Given the description of an element on the screen output the (x, y) to click on. 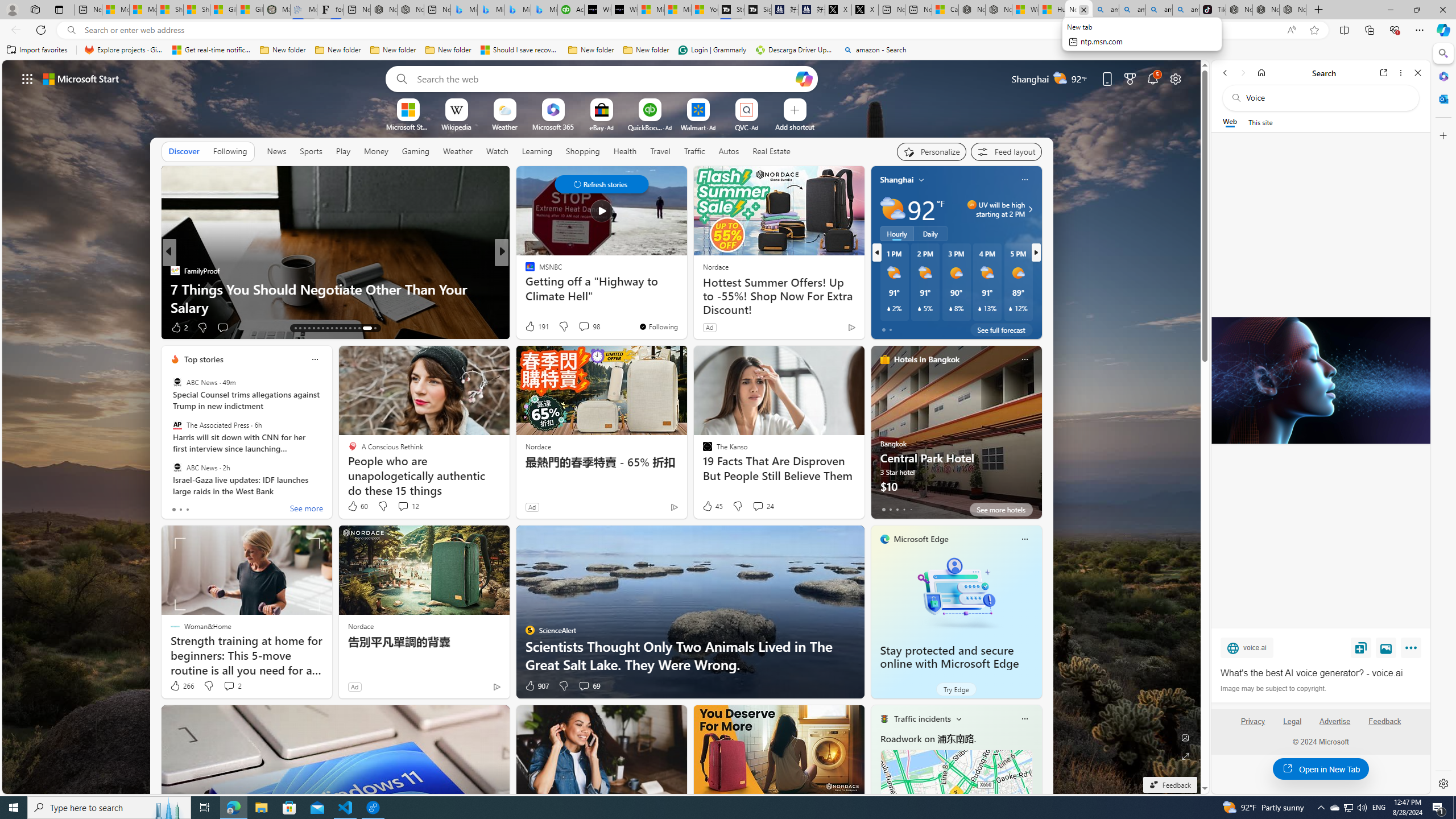
AutomationID: tab-24 (345, 328)
tab-0 (882, 509)
AutomationID: tab-20 (327, 328)
907 Like (536, 685)
See more hotels (1000, 509)
News (277, 151)
Forward (1242, 72)
